Given the description of an element on the screen output the (x, y) to click on. 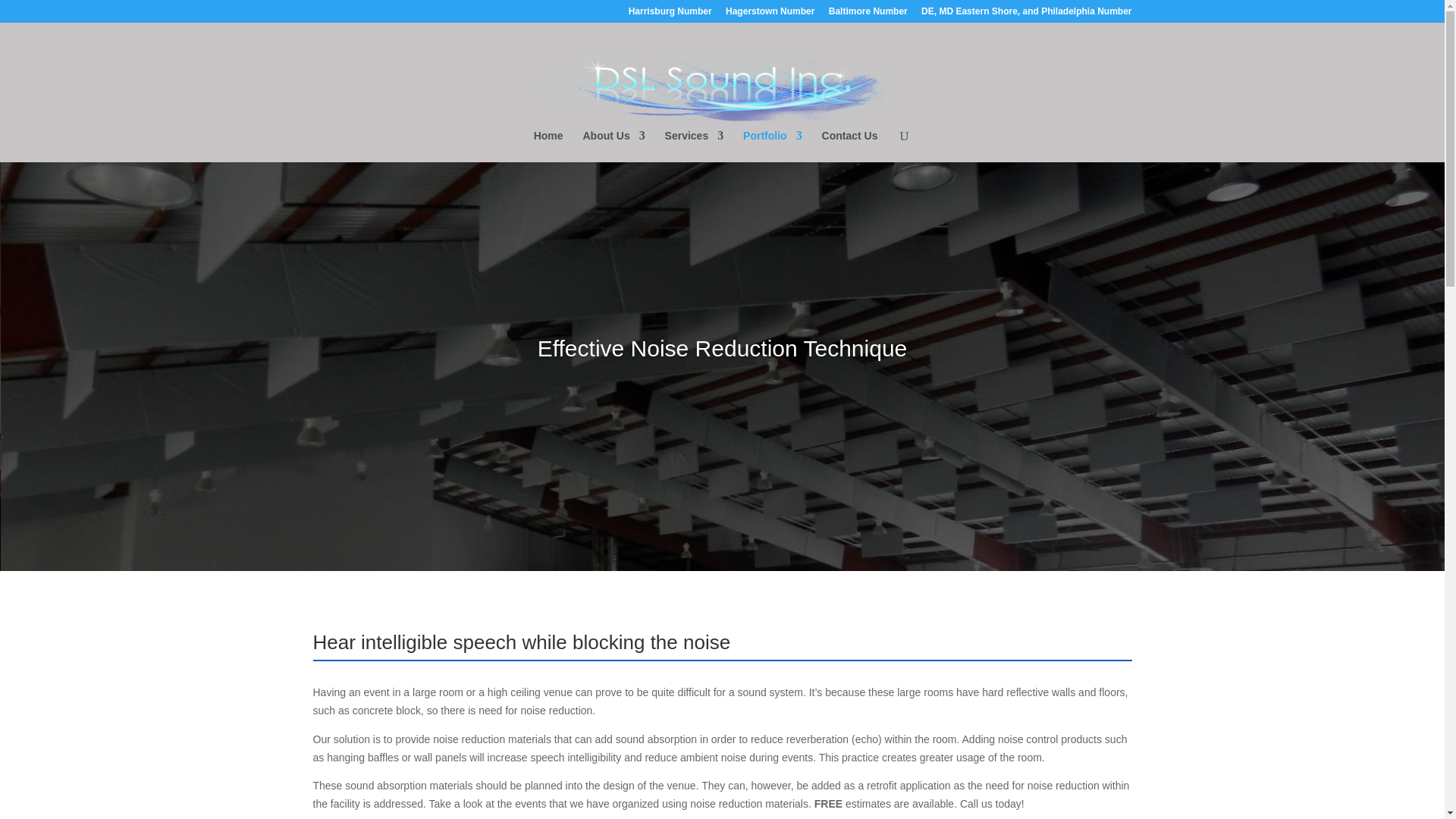
Services (694, 146)
Home (548, 146)
Baltimore Number (867, 14)
Hagerstown Number (769, 14)
DE, MD Eastern Shore, and Philadelphia Number (1026, 14)
About Us (613, 146)
Contact Us (849, 146)
Portfolio (772, 146)
Harrisburg Number (669, 14)
